Given the description of an element on the screen output the (x, y) to click on. 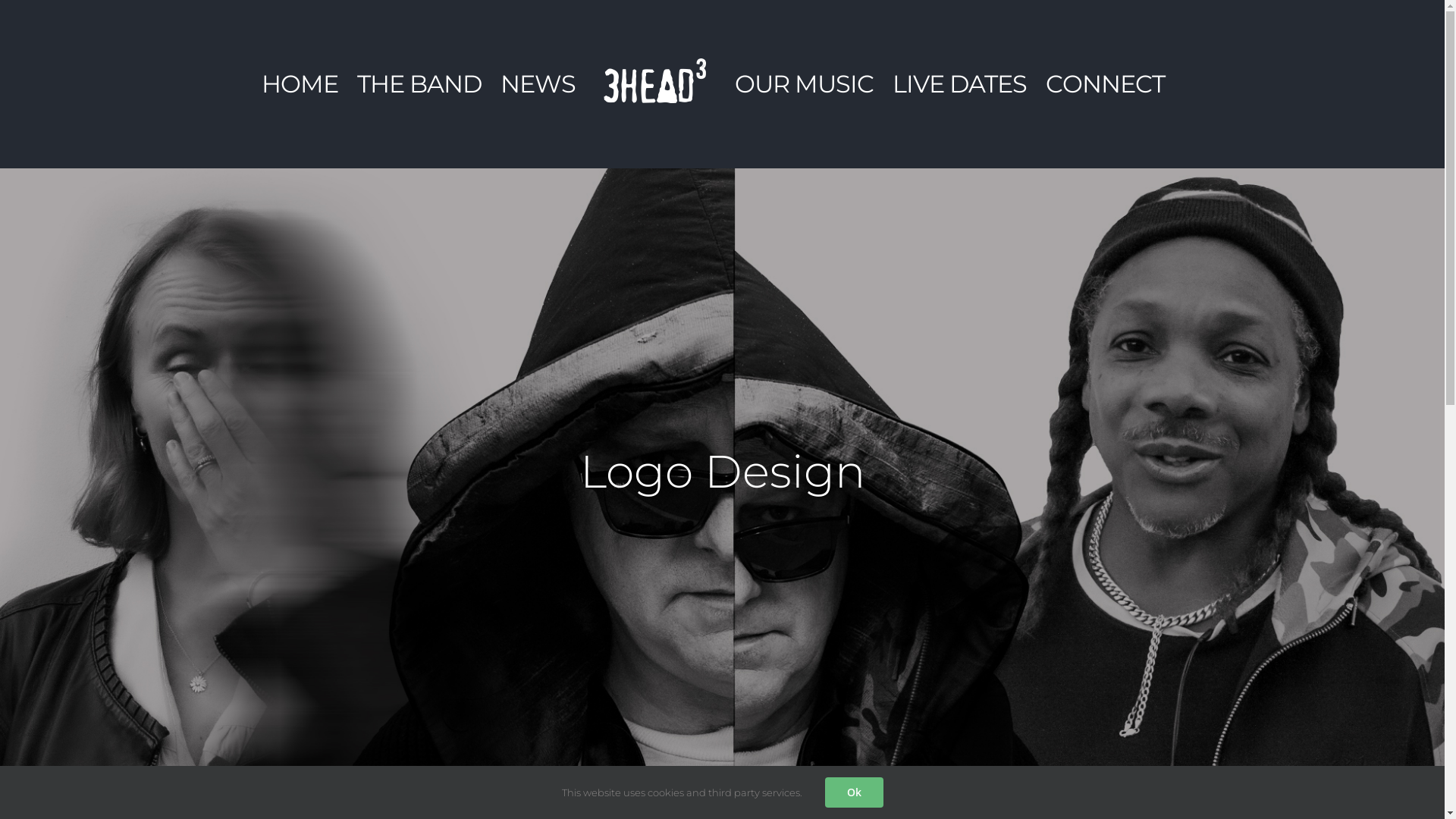
HOME Element type: text (298, 84)
Ok Element type: text (854, 792)
NEWS Element type: text (537, 84)
LIVE DATES Element type: text (958, 84)
CONNECT Element type: text (1104, 84)
OUR MUSIC Element type: text (803, 84)
THE BAND Element type: text (418, 84)
